Given the description of an element on the screen output the (x, y) to click on. 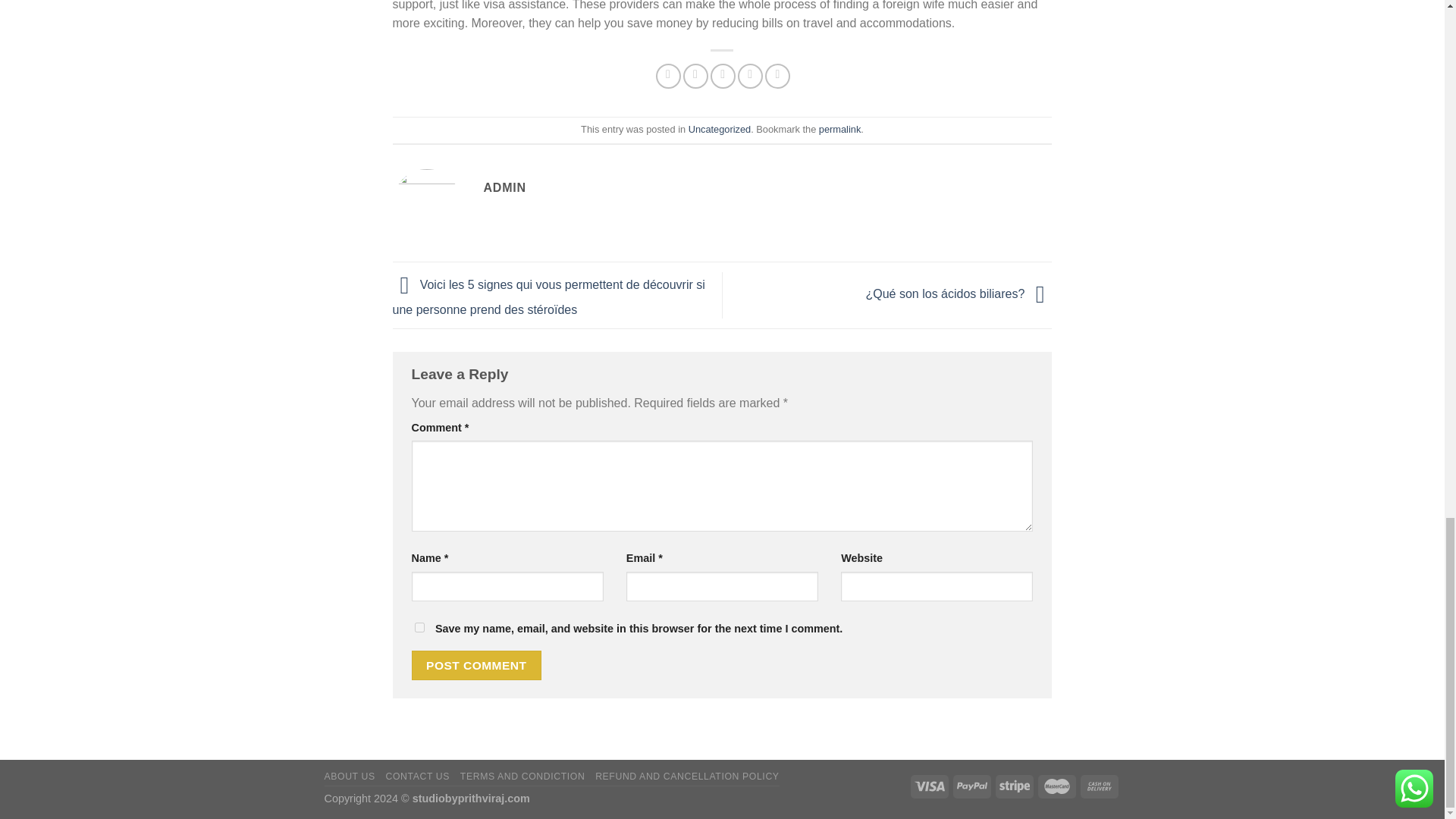
Permalink to How to locate Foreign Better half Online (839, 129)
CONTACT US (417, 776)
Email to a Friend (722, 75)
ABOUT US (349, 776)
Share on Twitter (694, 75)
TERMS AND CONDICTION (522, 776)
REFUND AND CANCELLATION POLICY (686, 776)
permalink (839, 129)
Uncategorized (719, 129)
Post Comment (475, 665)
